Given the description of an element on the screen output the (x, y) to click on. 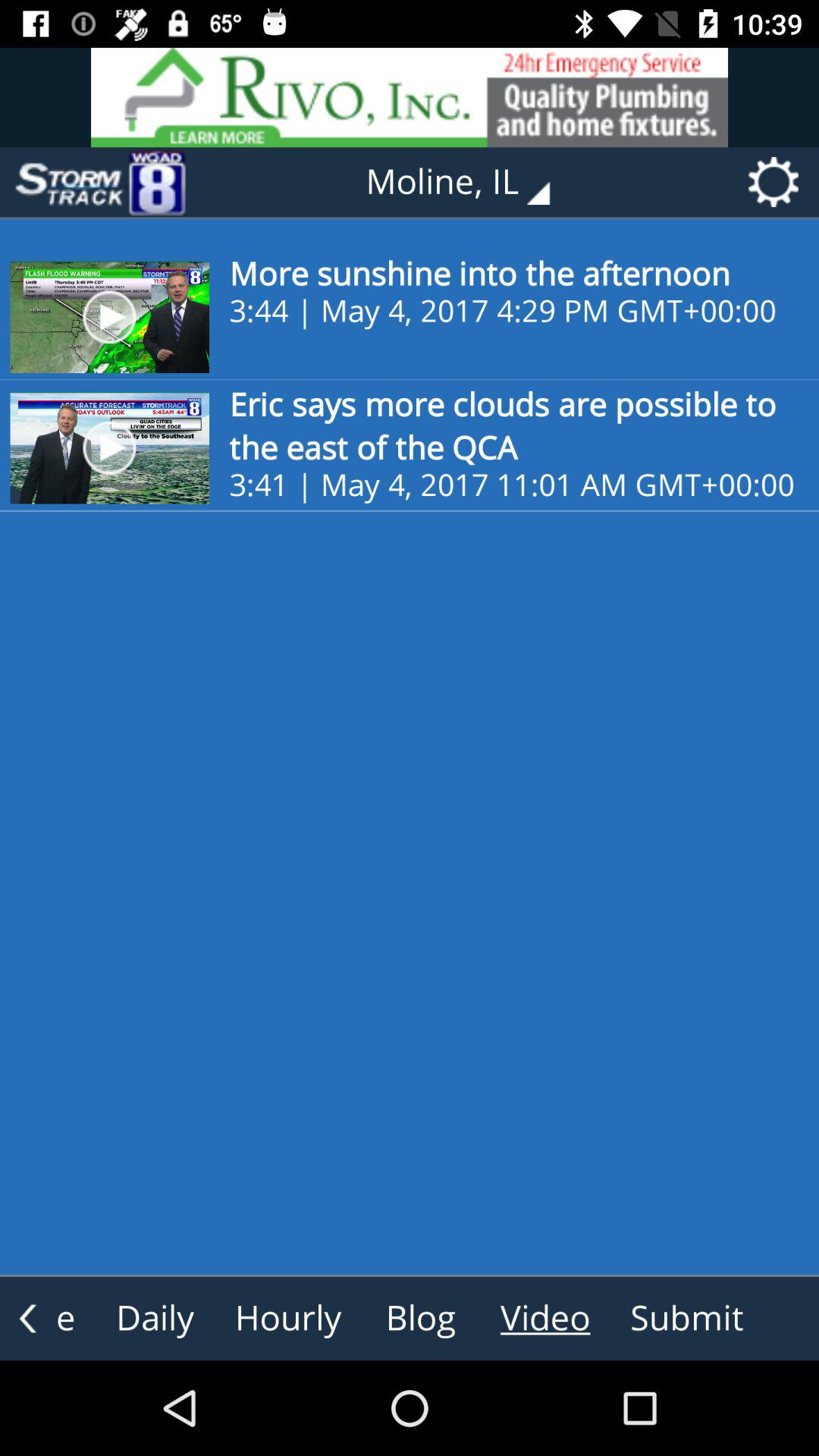
turn off item next to the moline, il (99, 182)
